Given the description of an element on the screen output the (x, y) to click on. 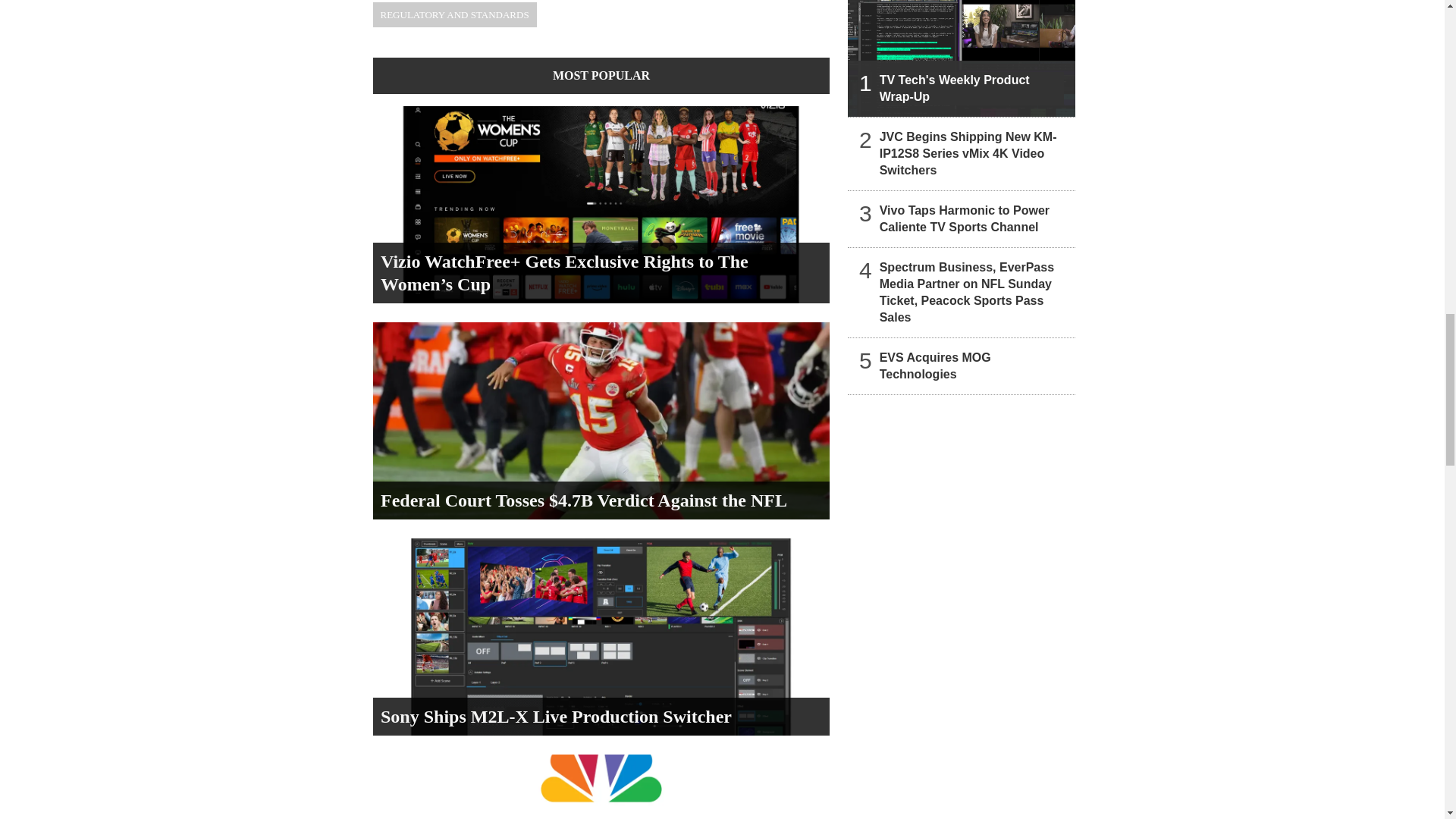
TV Tech's Weekly Product Wrap-Up (961, 58)
REGULATORY AND STANDARDS (454, 14)
